Given the description of an element on the screen output the (x, y) to click on. 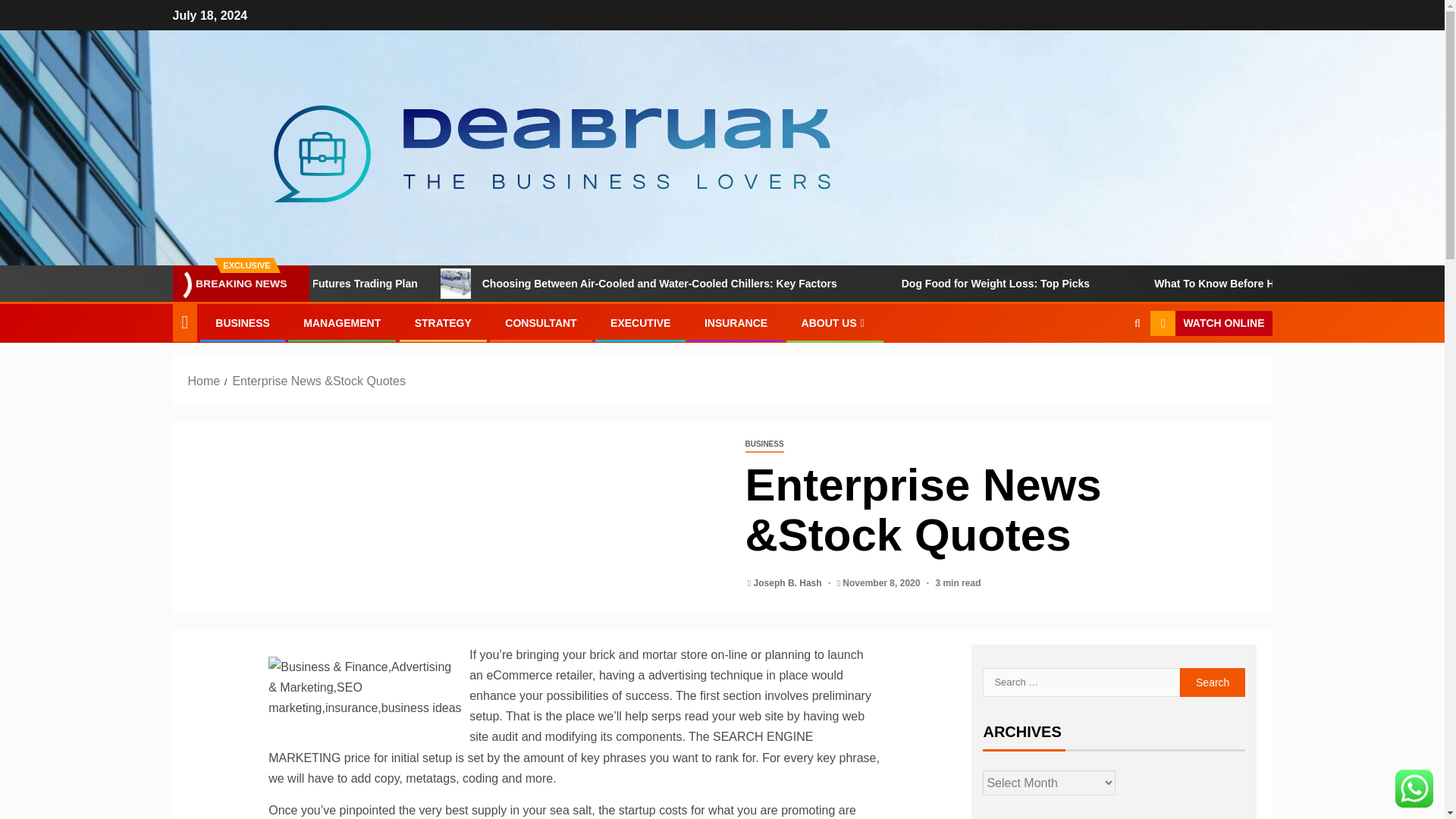
INSURANCE (735, 322)
ABOUT US (834, 322)
BUSINESS (242, 322)
BUSINESS (763, 444)
STRATEGY (442, 322)
Dog Food for Weight Loss: Top Picks (1106, 283)
Home (204, 380)
EXECUTIVE (639, 322)
How to Create a Futures Trading Plan (436, 283)
CONSULTANT (540, 322)
Search (1107, 369)
MANAGEMENT (341, 322)
WATCH ONLINE (1210, 323)
